Given the description of an element on the screen output the (x, y) to click on. 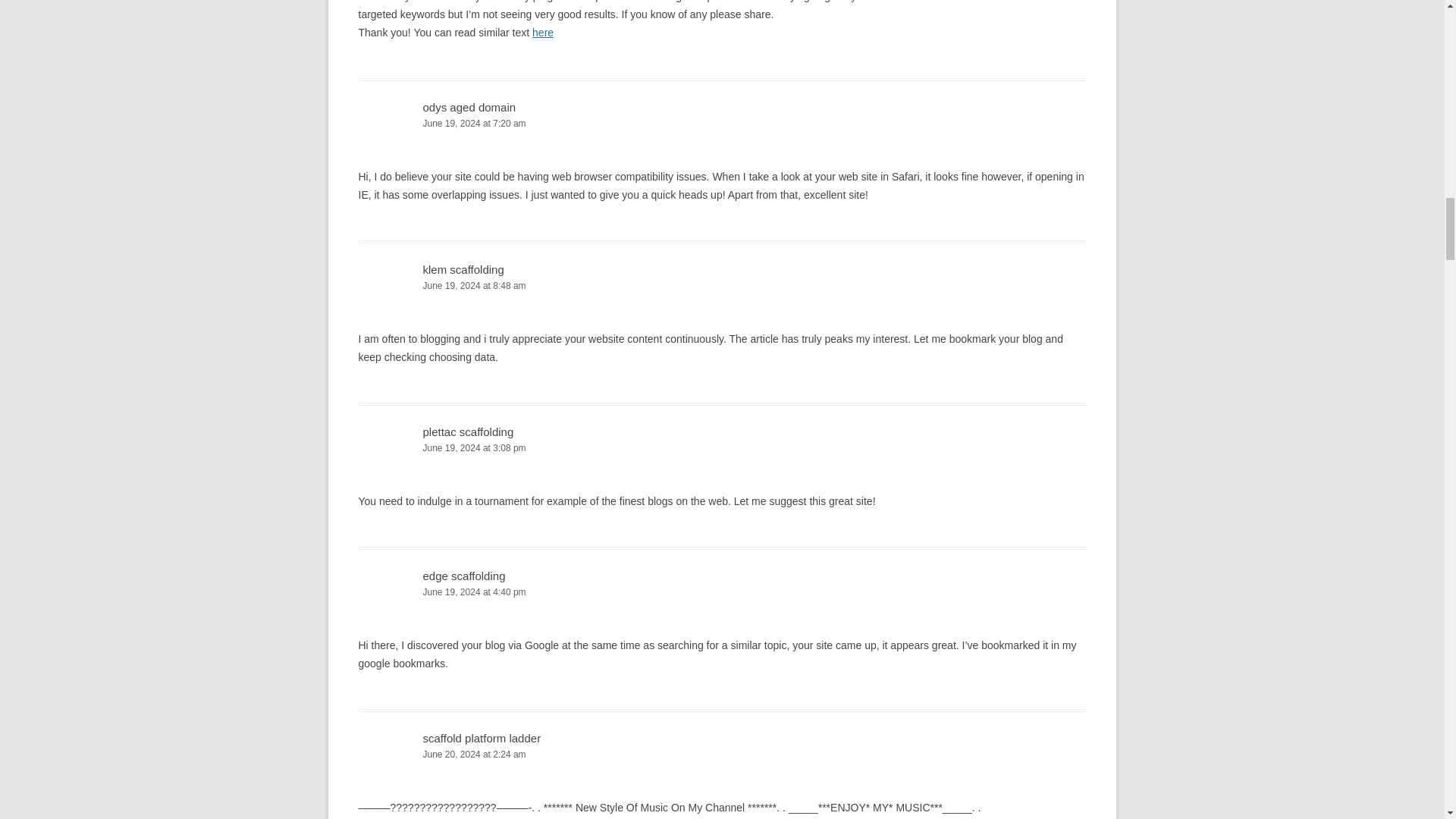
June 19, 2024 at 4:40 pm (722, 592)
here (542, 32)
odys aged domain (469, 106)
edge scaffolding (464, 575)
plettac scaffolding (468, 431)
klem scaffolding (463, 269)
June 19, 2024 at 8:48 am (722, 286)
June 19, 2024 at 3:08 pm (722, 448)
June 19, 2024 at 7:20 am (722, 123)
